Given the description of an element on the screen output the (x, y) to click on. 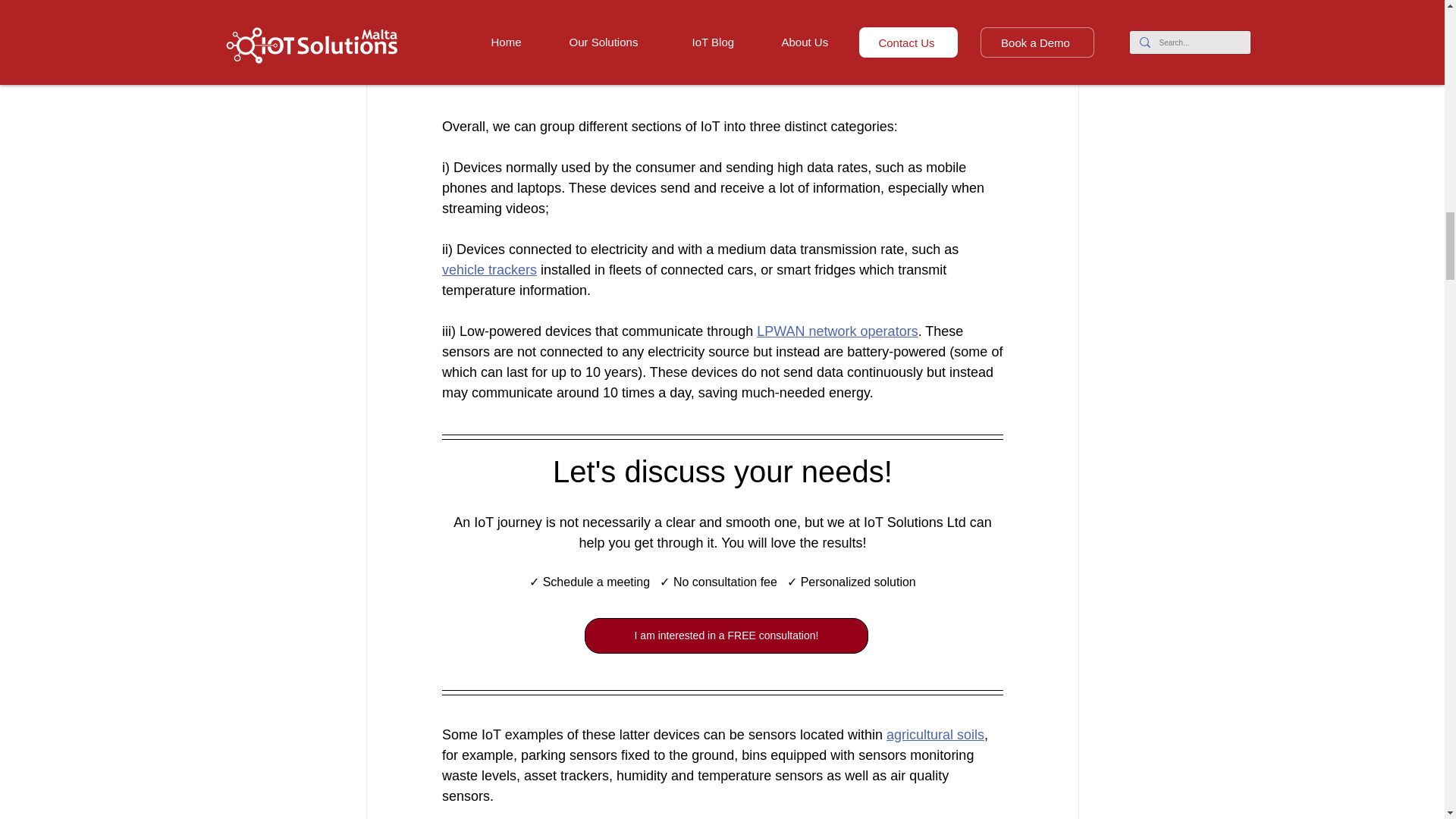
LPWAN network operators (837, 331)
vehicle trackers (488, 269)
agricultural soils (934, 734)
I am interested in a FREE consultation! (725, 635)
